Given the description of an element on the screen output the (x, y) to click on. 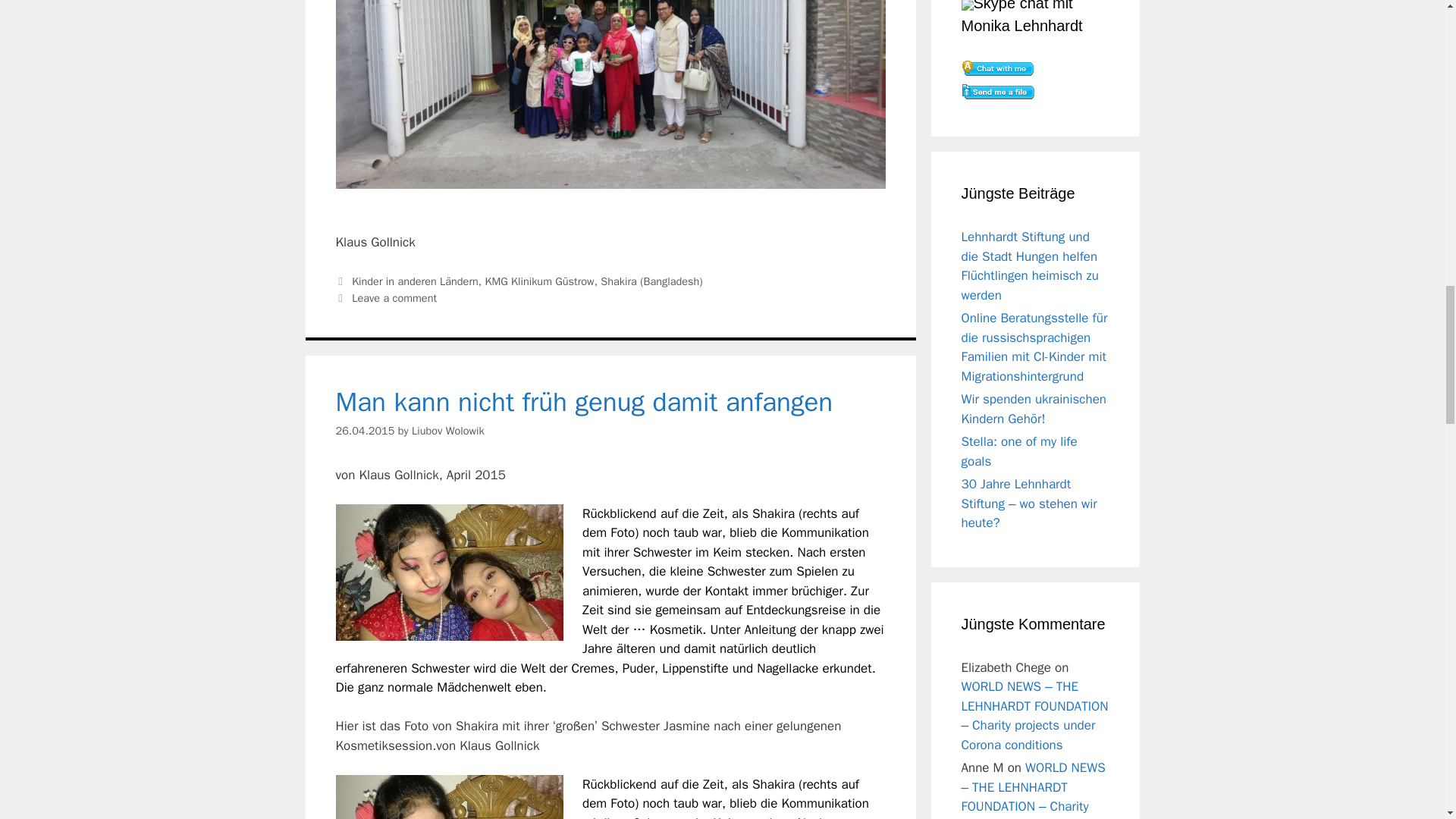
Liubov Wolowik (448, 430)
Leave a comment (394, 297)
View all posts by Liubov Wolowik (448, 430)
